Given the description of an element on the screen output the (x, y) to click on. 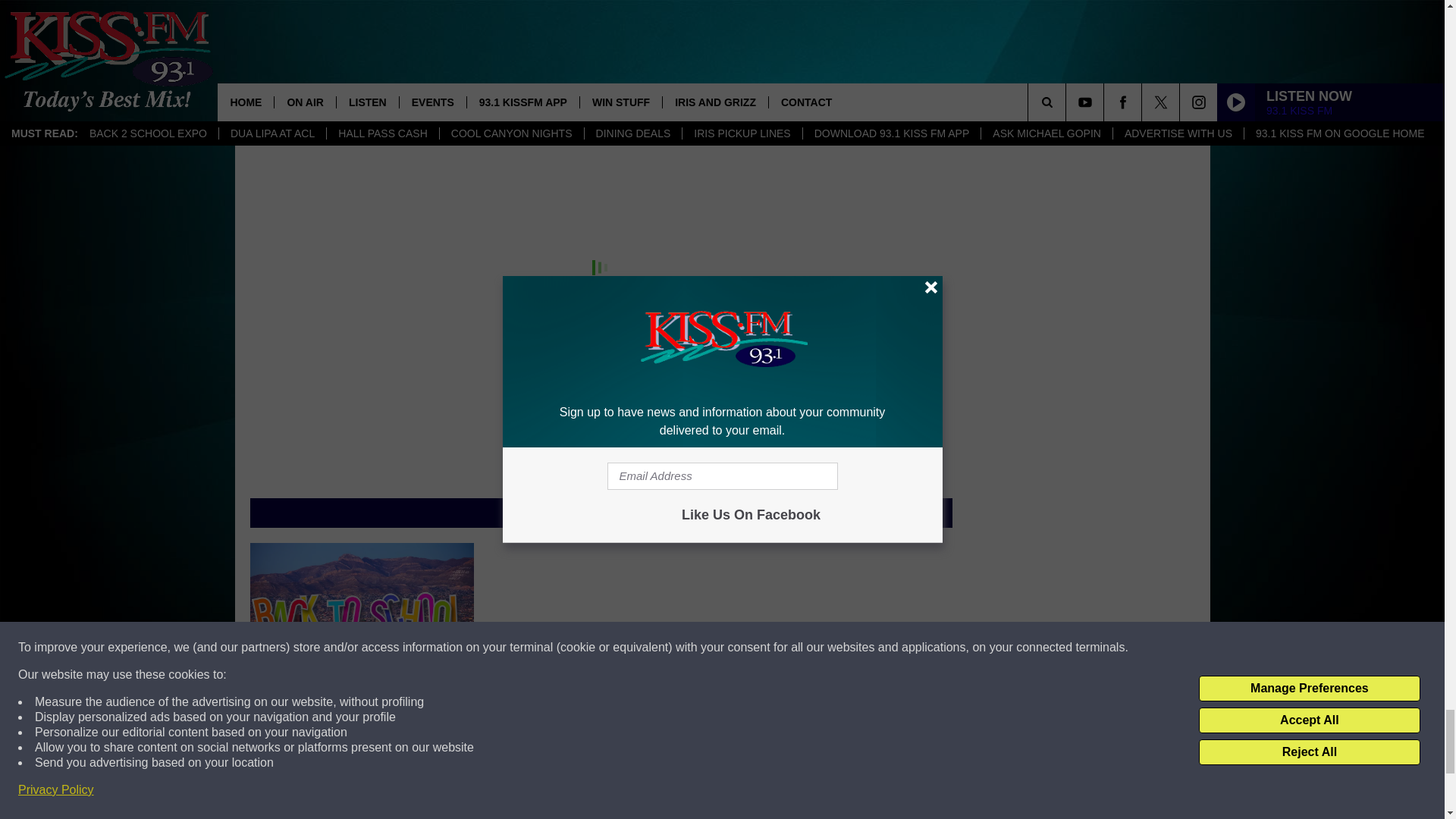
Email Address (600, 9)
